Given the description of an element on the screen output the (x, y) to click on. 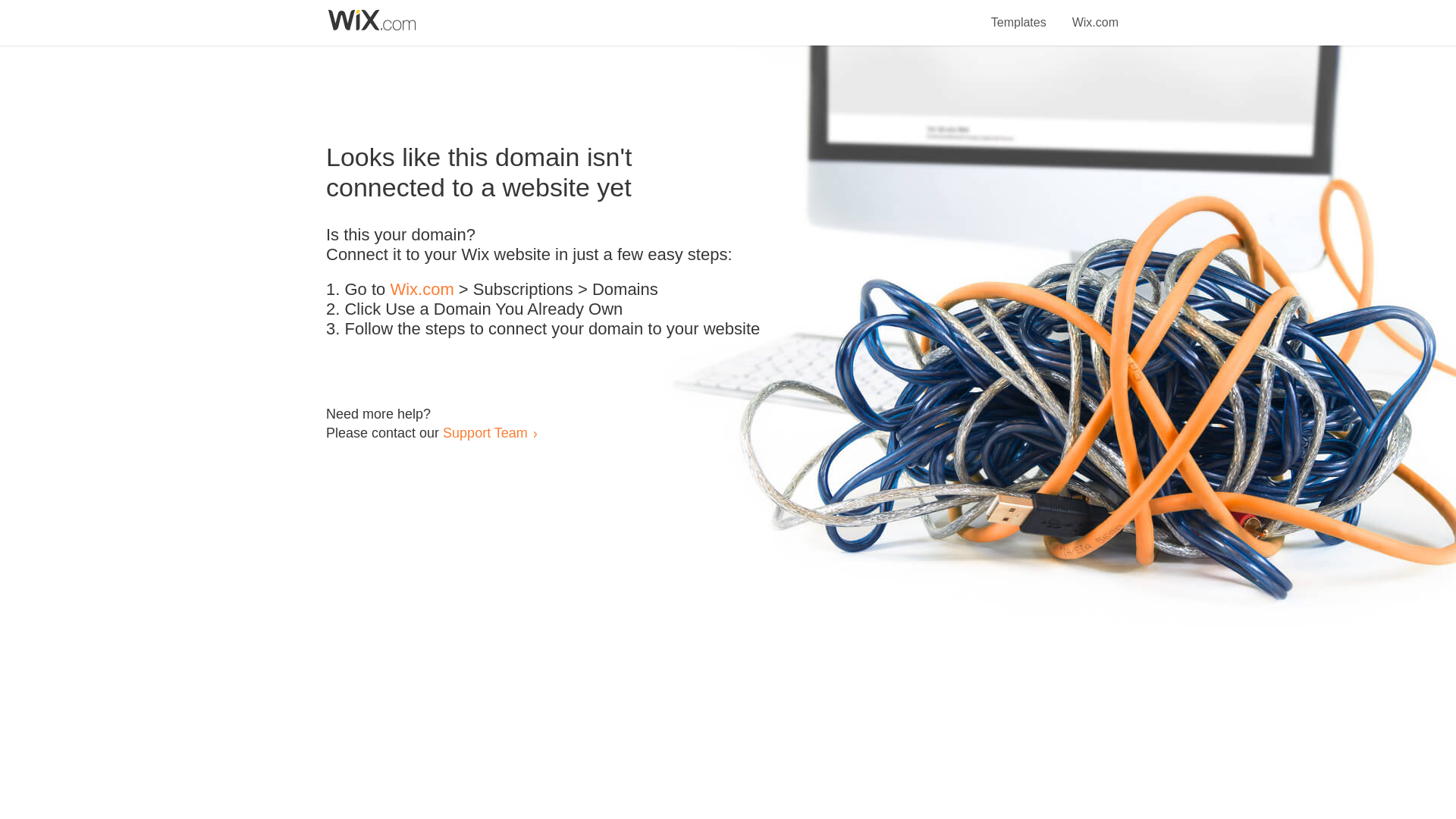
Support Team (484, 432)
Wix.com (1095, 14)
Wix.com (421, 289)
Templates (1018, 14)
